Given the description of an element on the screen output the (x, y) to click on. 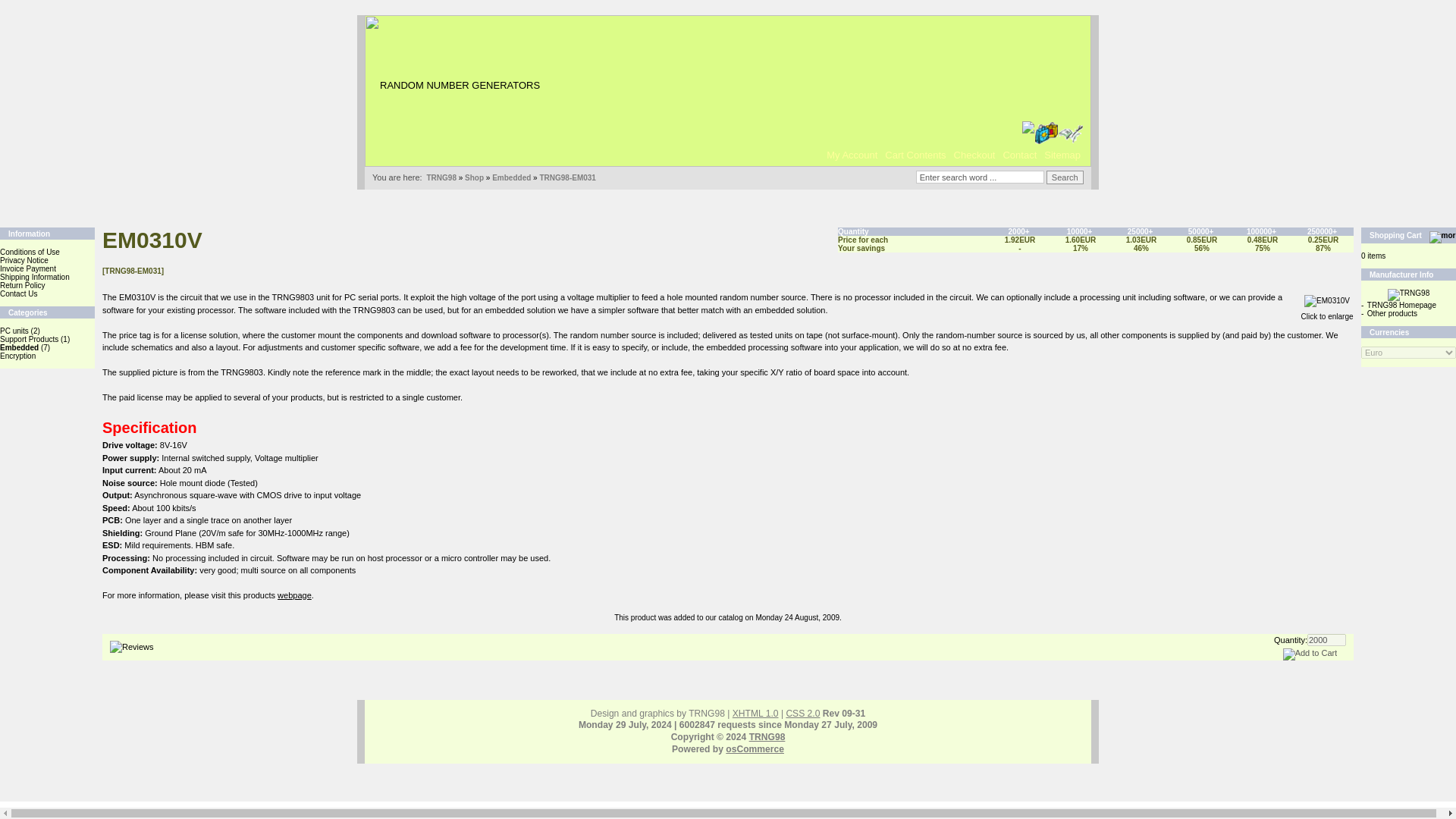
News (447, 51)
 Add to Cart  (1310, 653)
My Account (851, 155)
Checkout (974, 155)
XHTML 1.0 (755, 713)
 more  (1442, 236)
osCommerce (754, 748)
Cart Contents (914, 155)
Search (1065, 177)
 EM0310V  (1326, 300)
PC units (14, 330)
CSS 2.0 (802, 713)
TRNG98 (440, 177)
Sitemap (1062, 155)
Other products (1391, 313)
